Given the description of an element on the screen output the (x, y) to click on. 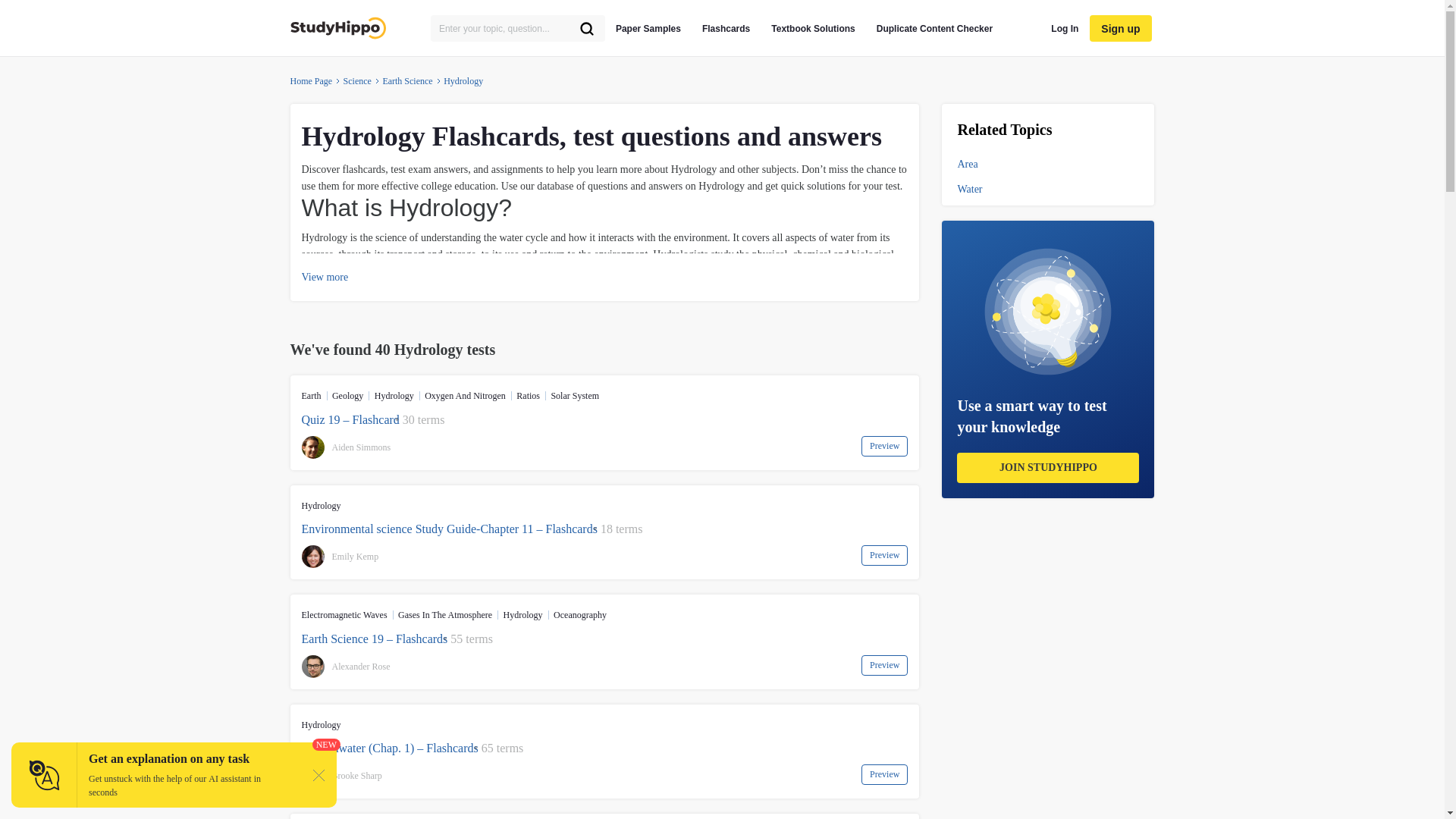
View more (325, 277)
Log In (1064, 28)
Textbook Solutions (812, 28)
Duplicate Content Checker (934, 28)
Earth Science (406, 80)
Science (357, 80)
Flashcards (725, 28)
Home Page (310, 80)
Paper Samples (648, 28)
Sign up (1120, 28)
